Given the description of an element on the screen output the (x, y) to click on. 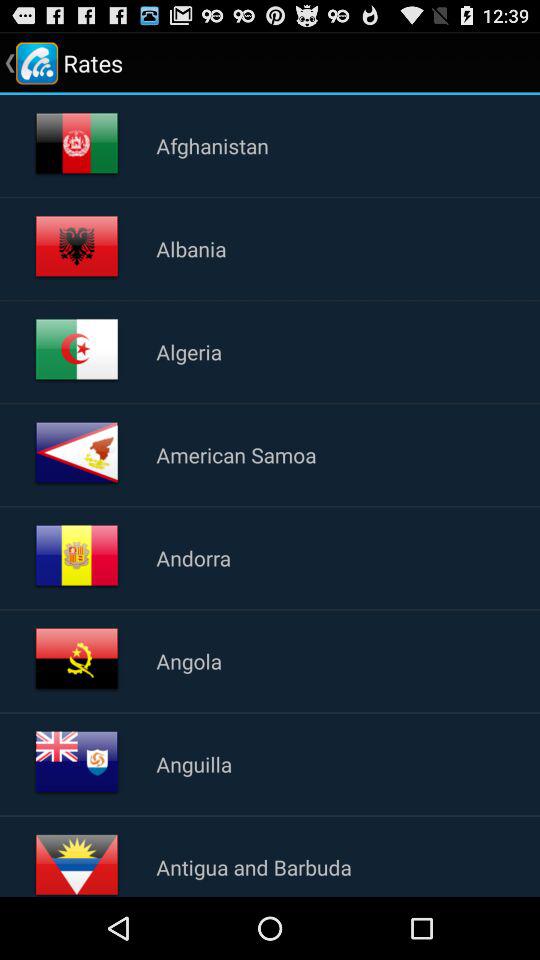
flip until the angola (189, 660)
